Given the description of an element on the screen output the (x, y) to click on. 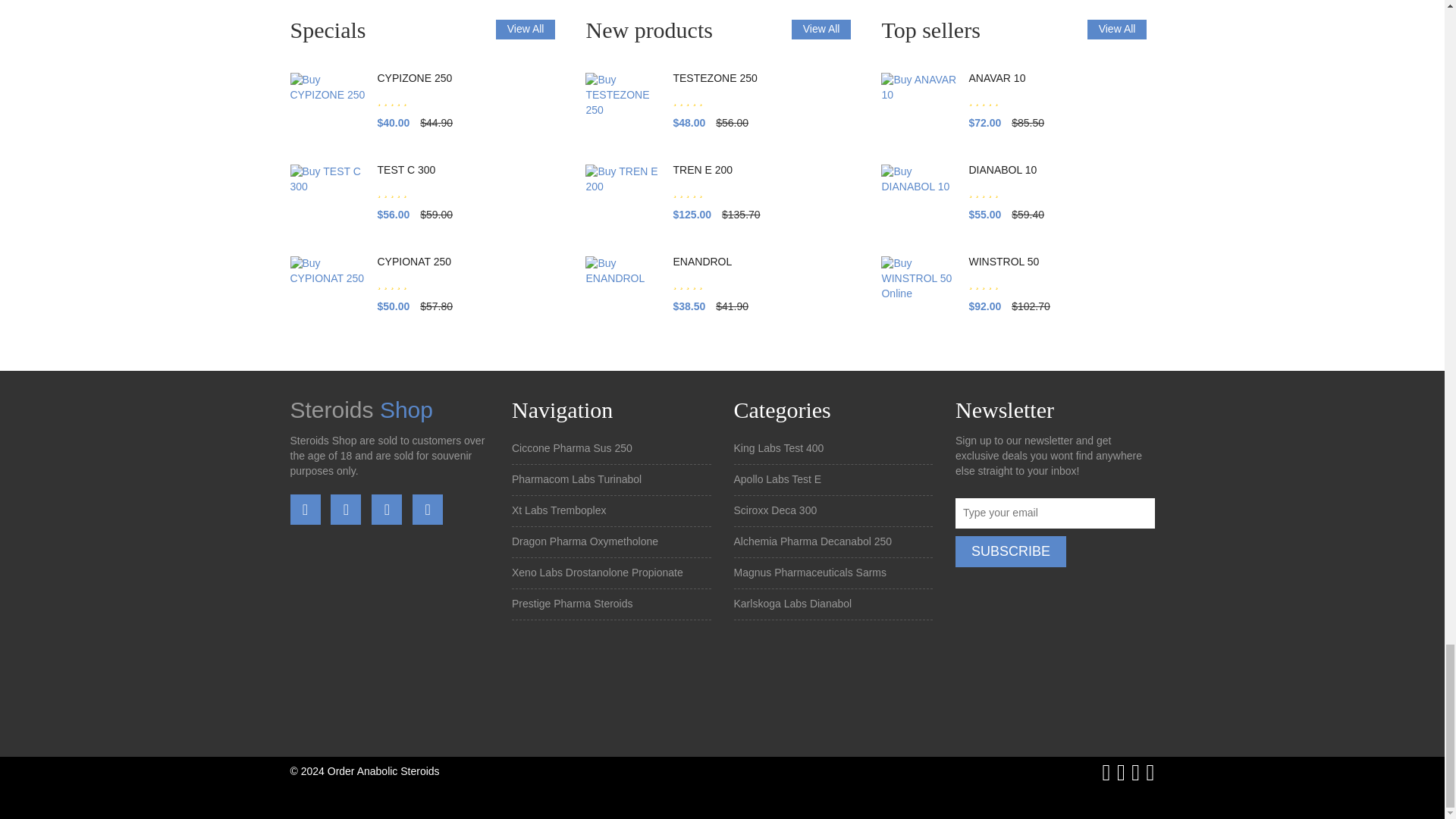
Subscribe (1010, 552)
